Given the description of an element on the screen output the (x, y) to click on. 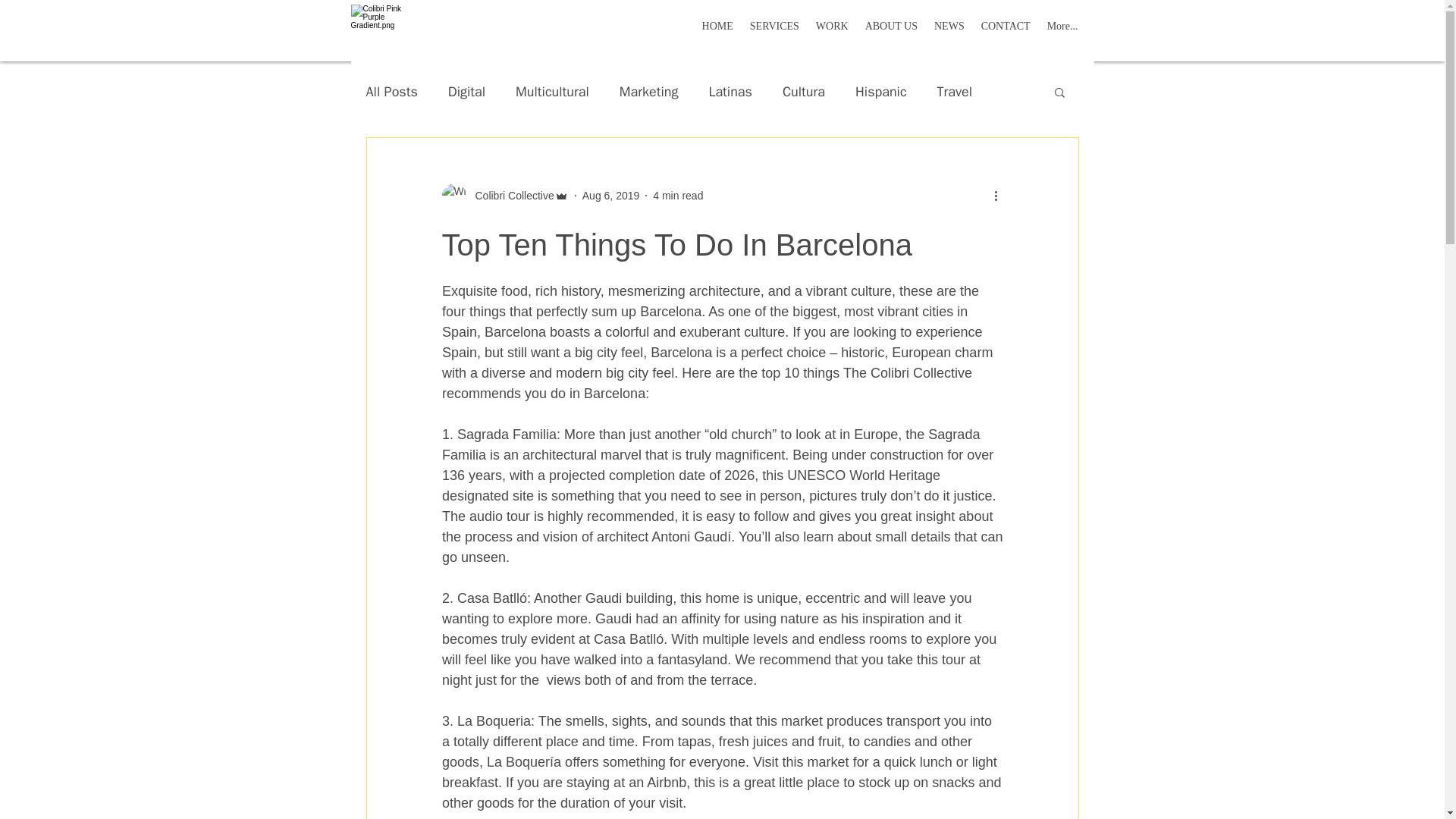
4 min read (677, 195)
All Posts (390, 91)
Digital (466, 91)
Latinas (729, 91)
Travel (954, 91)
ABOUT US (891, 29)
Hispanic (881, 91)
NEWS (949, 29)
Colibri Collective (509, 195)
Multicultural (552, 91)
